Given the description of an element on the screen output the (x, y) to click on. 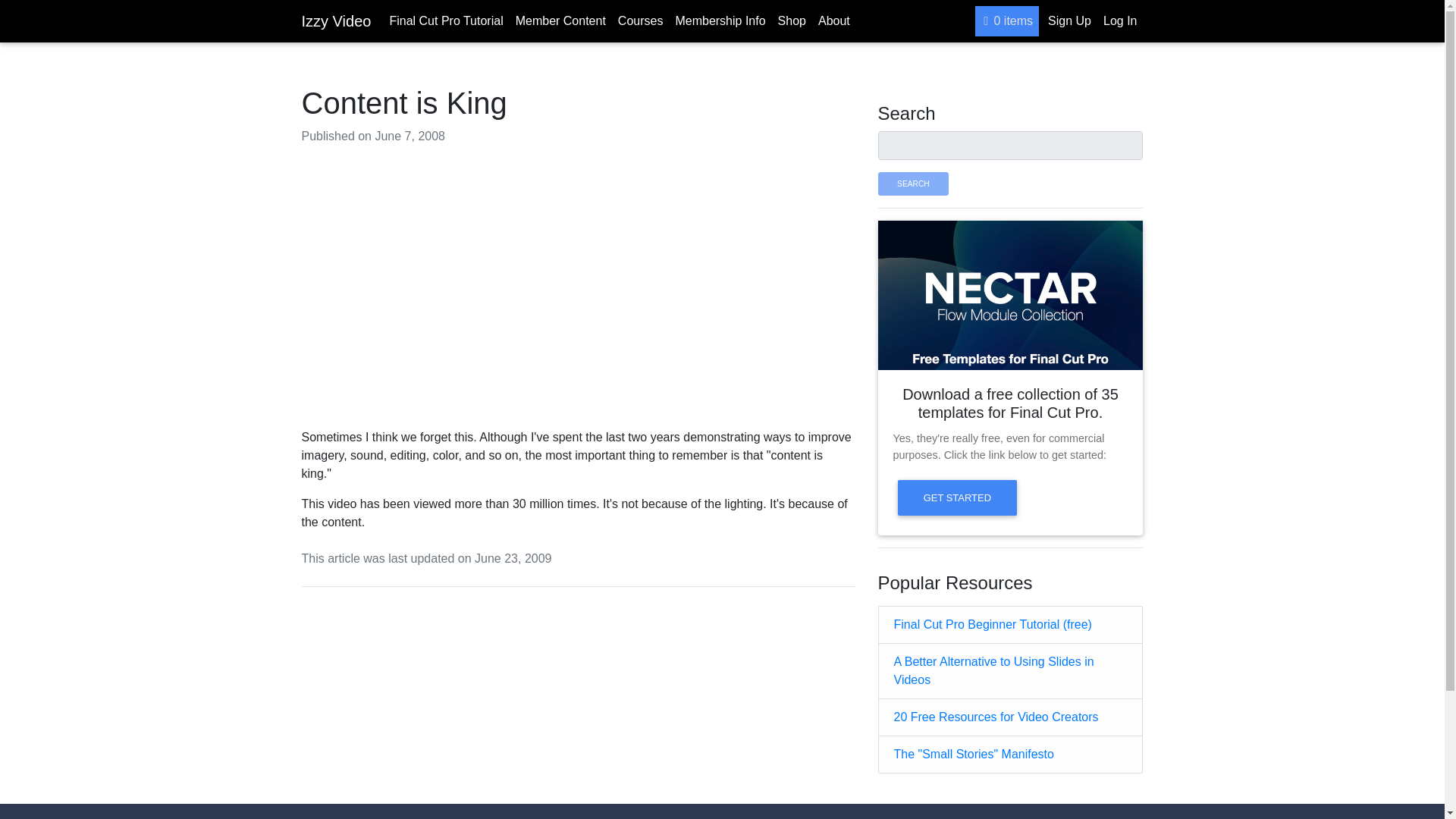
The "Small Stories" Manifesto (972, 753)
Final Cut Pro Tutorial (445, 20)
0 items (1007, 20)
Courses (640, 20)
Sign Up (1069, 20)
Izzy Video (336, 20)
Search (913, 183)
A Better Alternative to Using Slides in Videos (993, 670)
Search (913, 183)
GET STARTED (957, 497)
Membership Info (719, 20)
Shop (791, 20)
Member Content (560, 20)
Log In (1119, 20)
20 Free Resources for Video Creators (995, 716)
